Given the description of an element on the screen output the (x, y) to click on. 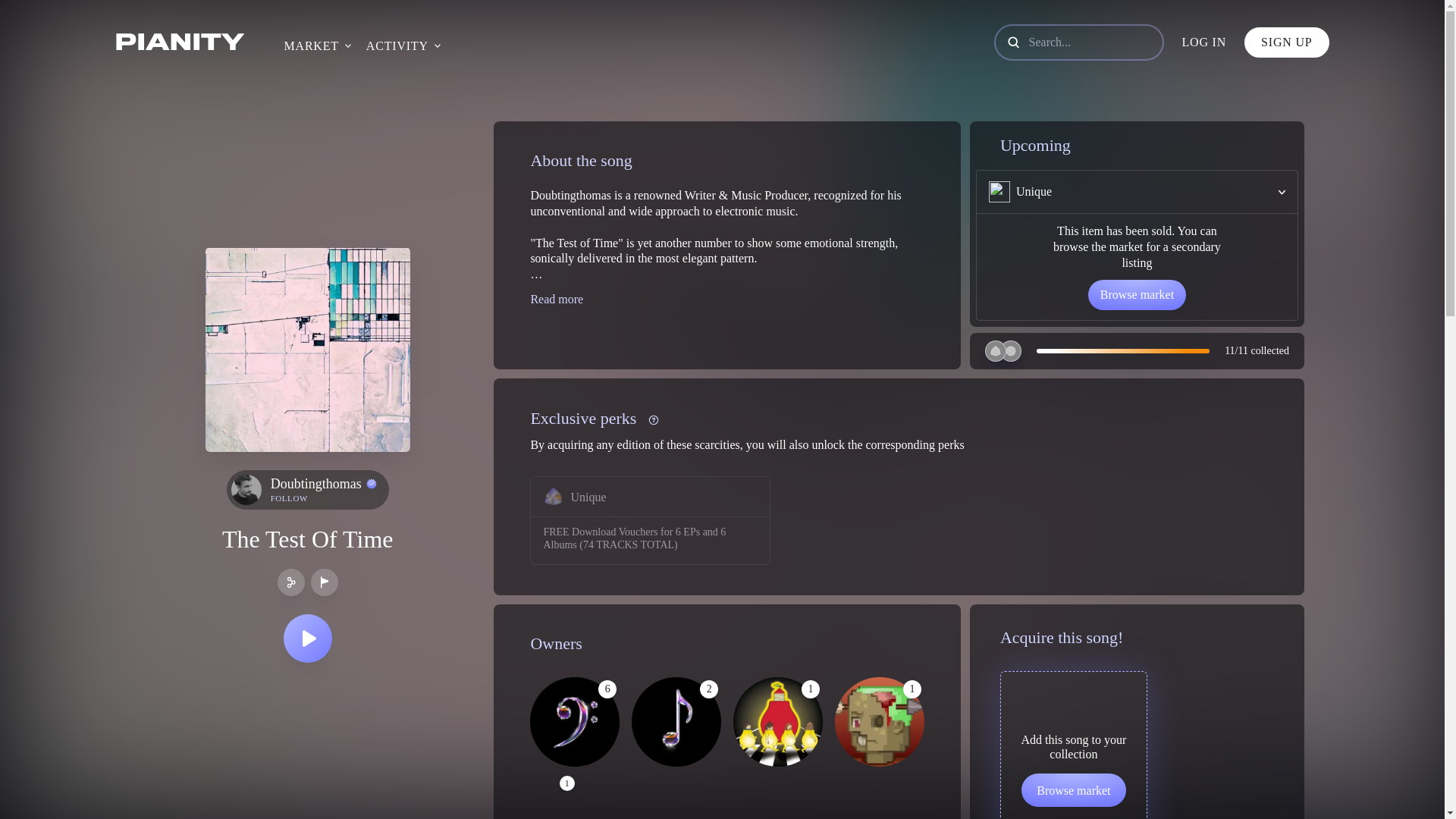
SIGN UP (1285, 42)
1 (777, 721)
1 (879, 721)
6 (574, 721)
MARKET (310, 45)
2 (675, 721)
Read more (556, 298)
Browse market (1073, 789)
ACTIVITY (397, 45)
Doubtingthomas (323, 484)
